Given the description of an element on the screen output the (x, y) to click on. 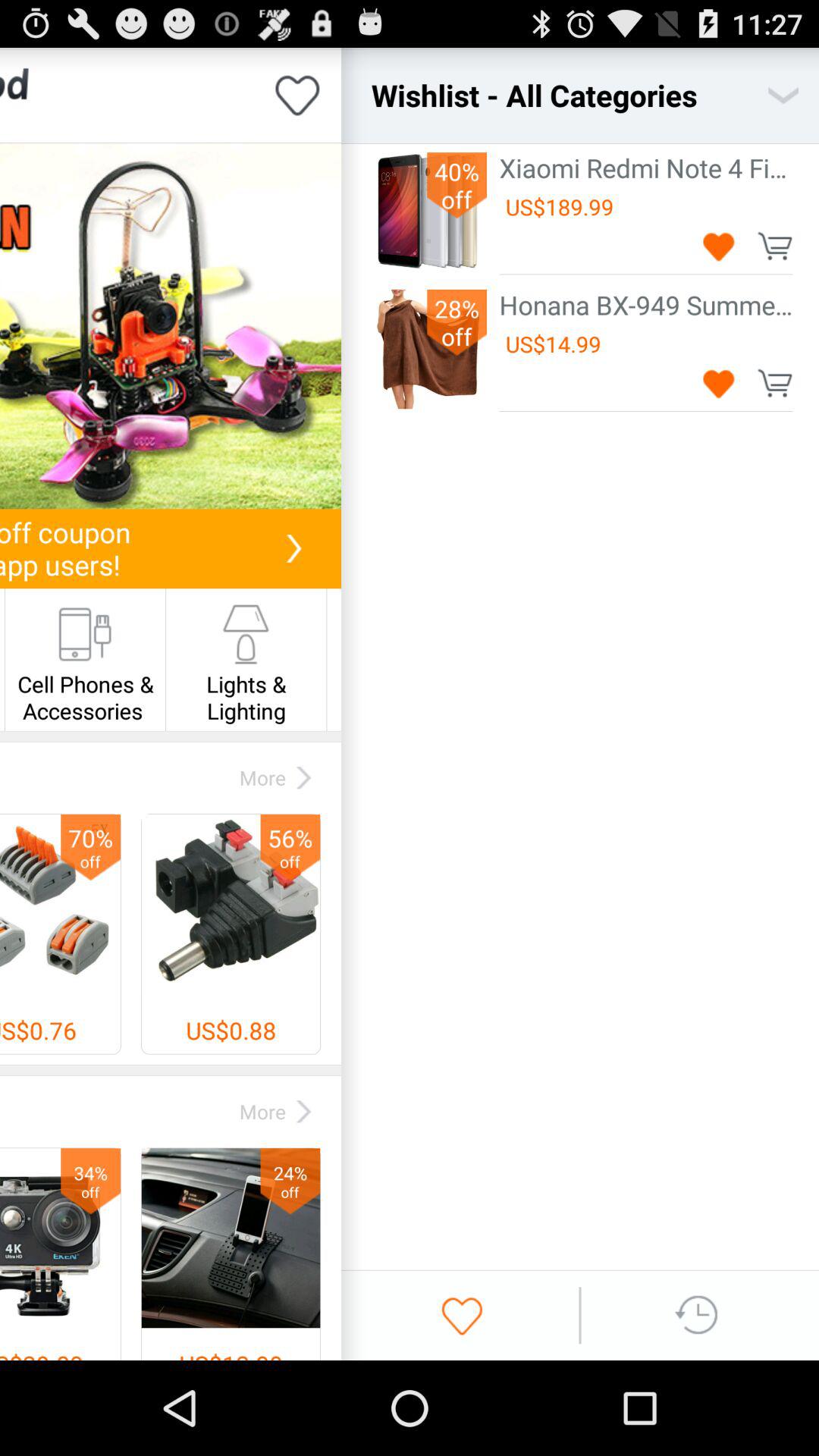
to show favorite items (461, 1315)
